Given the description of an element on the screen output the (x, y) to click on. 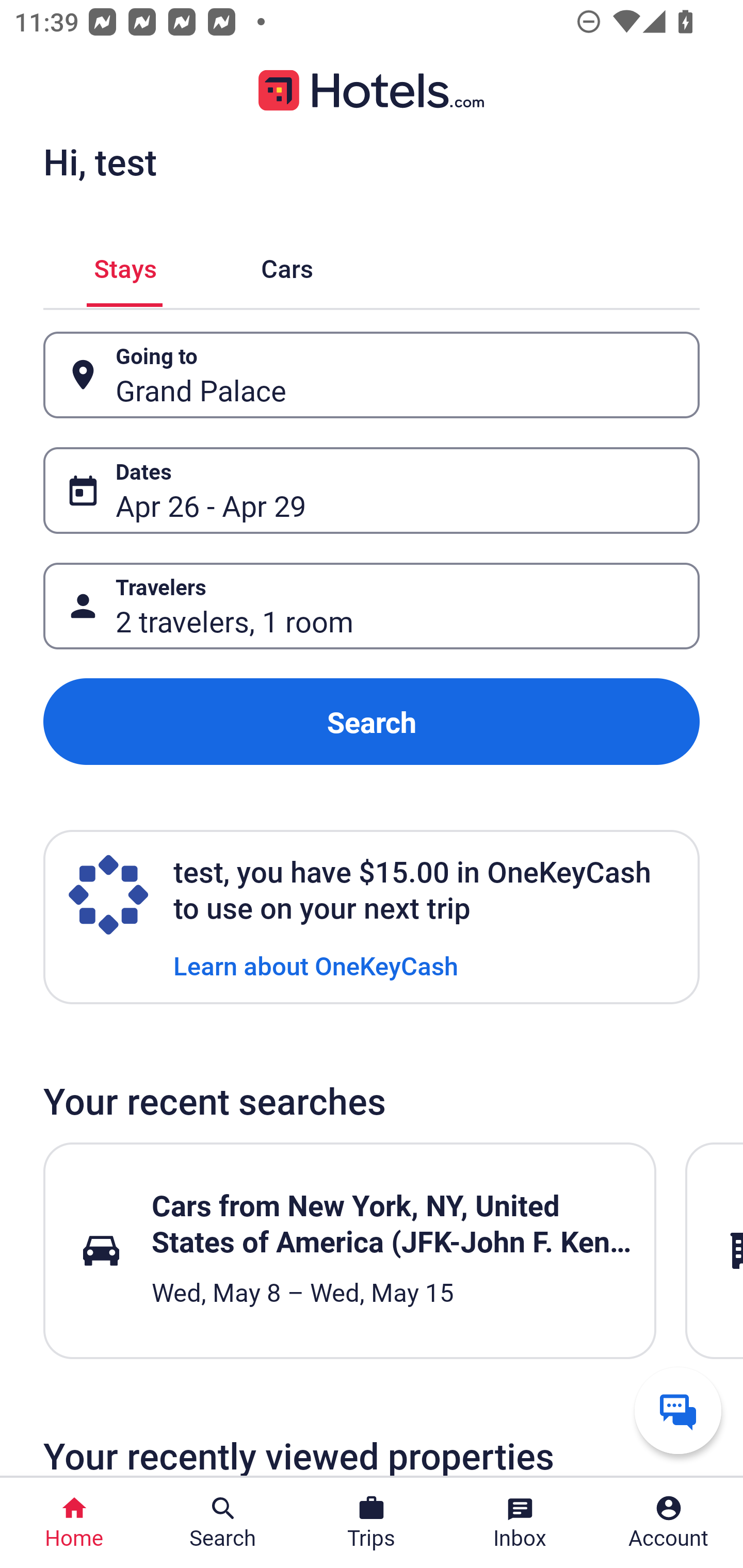
Hi, test (99, 161)
Cars (286, 265)
Going to Button Grand Palace (371, 375)
Dates Button Apr 26 - Apr 29 (371, 489)
Travelers Button 2 travelers, 1 room (371, 605)
Search (371, 721)
Learn about OneKeyCash Learn about OneKeyCash Link (315, 964)
Get help from a virtual agent (677, 1410)
Search Search Button (222, 1522)
Trips Trips Button (371, 1522)
Inbox Inbox Button (519, 1522)
Account Profile. Button (668, 1522)
